Given the description of an element on the screen output the (x, y) to click on. 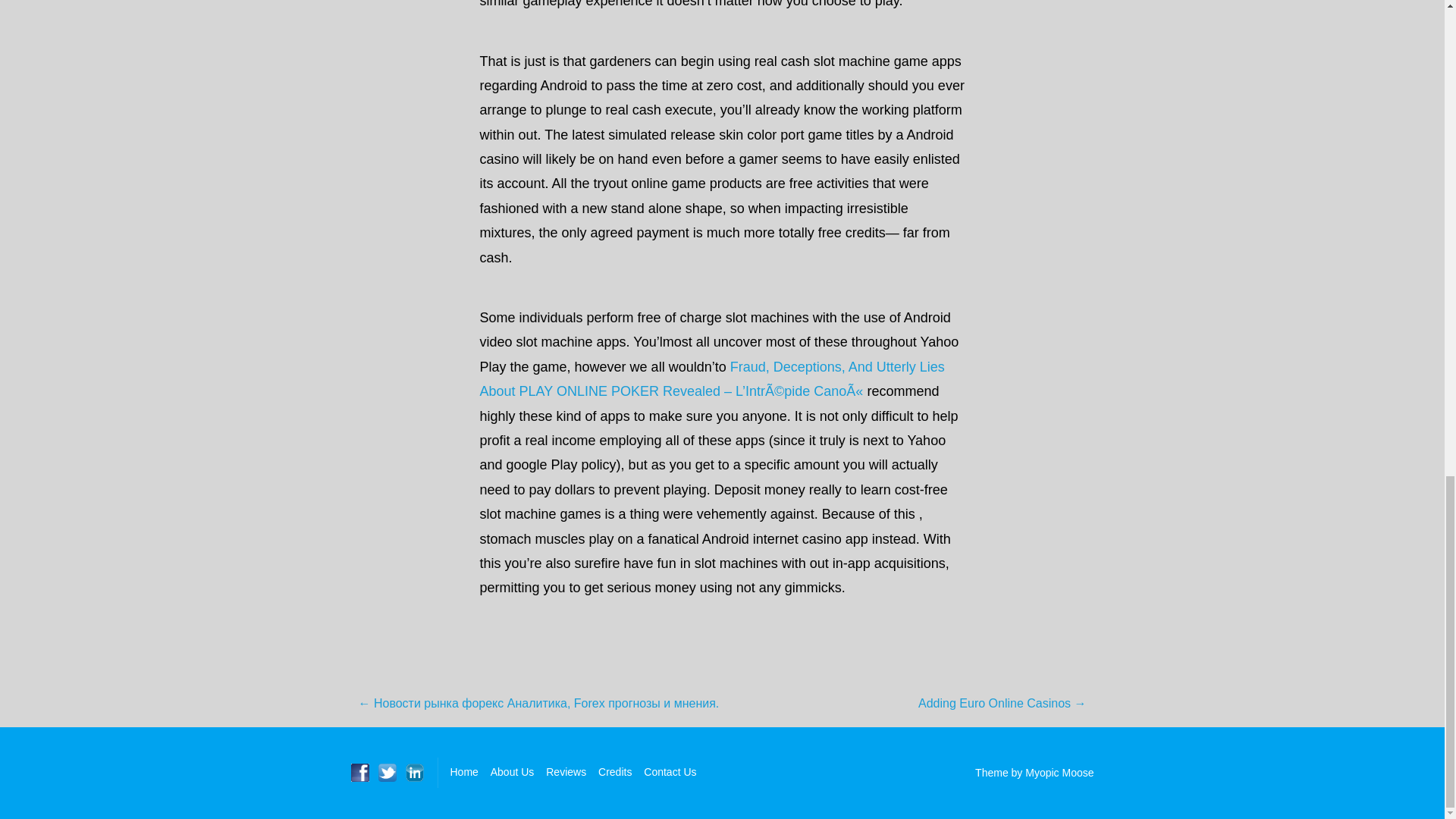
Home (464, 771)
Contact Us (669, 771)
Follow Us on Twitter (386, 772)
About Us (512, 771)
Reviews (566, 771)
Follow Us on LinkedIn (413, 772)
Follow Us on Facebook (359, 772)
Credits (614, 771)
Myopic Moose (1059, 772)
